Given the description of an element on the screen output the (x, y) to click on. 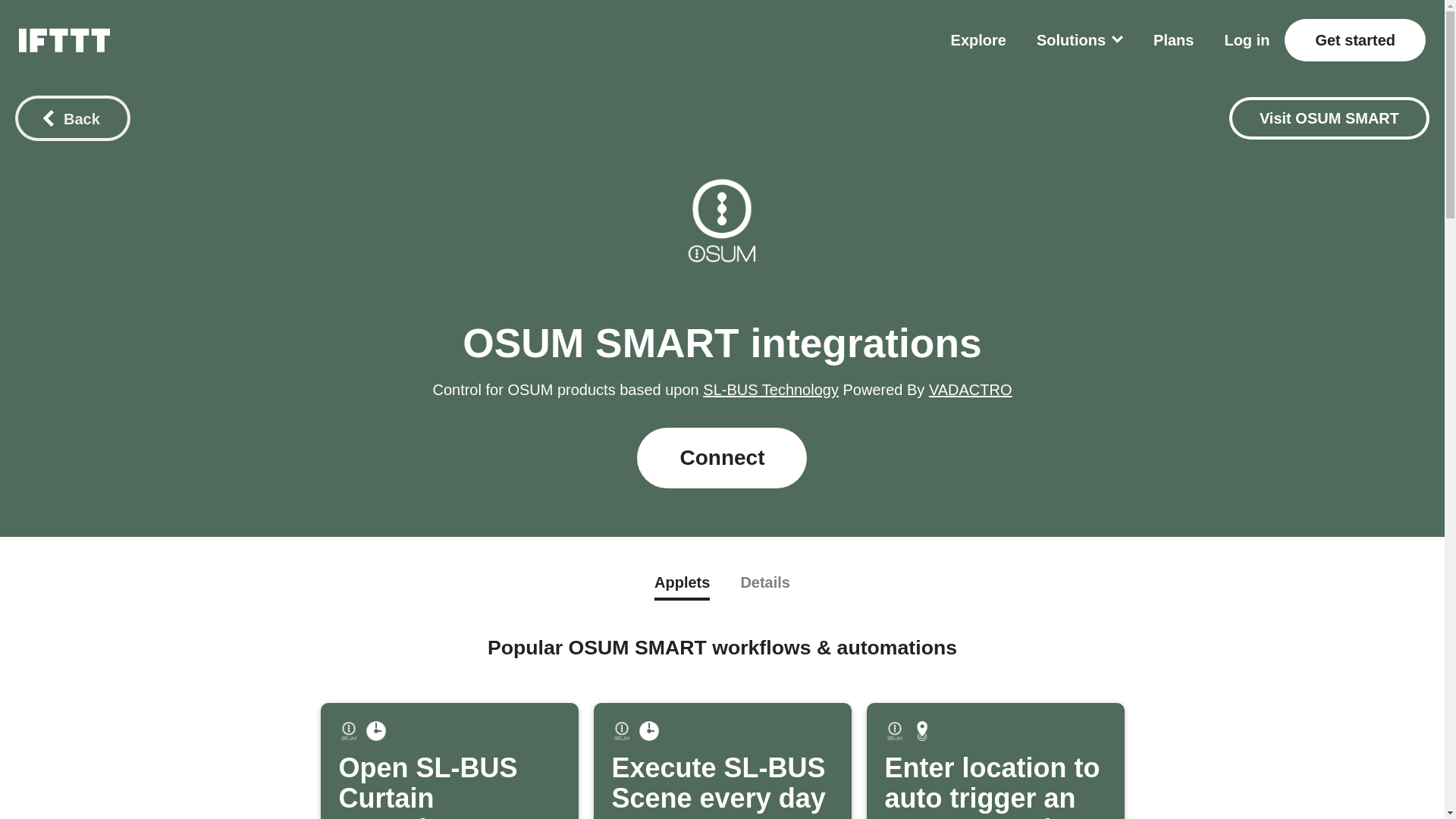
Plans (1173, 39)
Explore (978, 39)
SL-BUS Technology (770, 389)
OSUM SMART integrations (722, 343)
Back (72, 117)
Explore (978, 39)
Home (1328, 118)
Plans (449, 760)
